Given the description of an element on the screen output the (x, y) to click on. 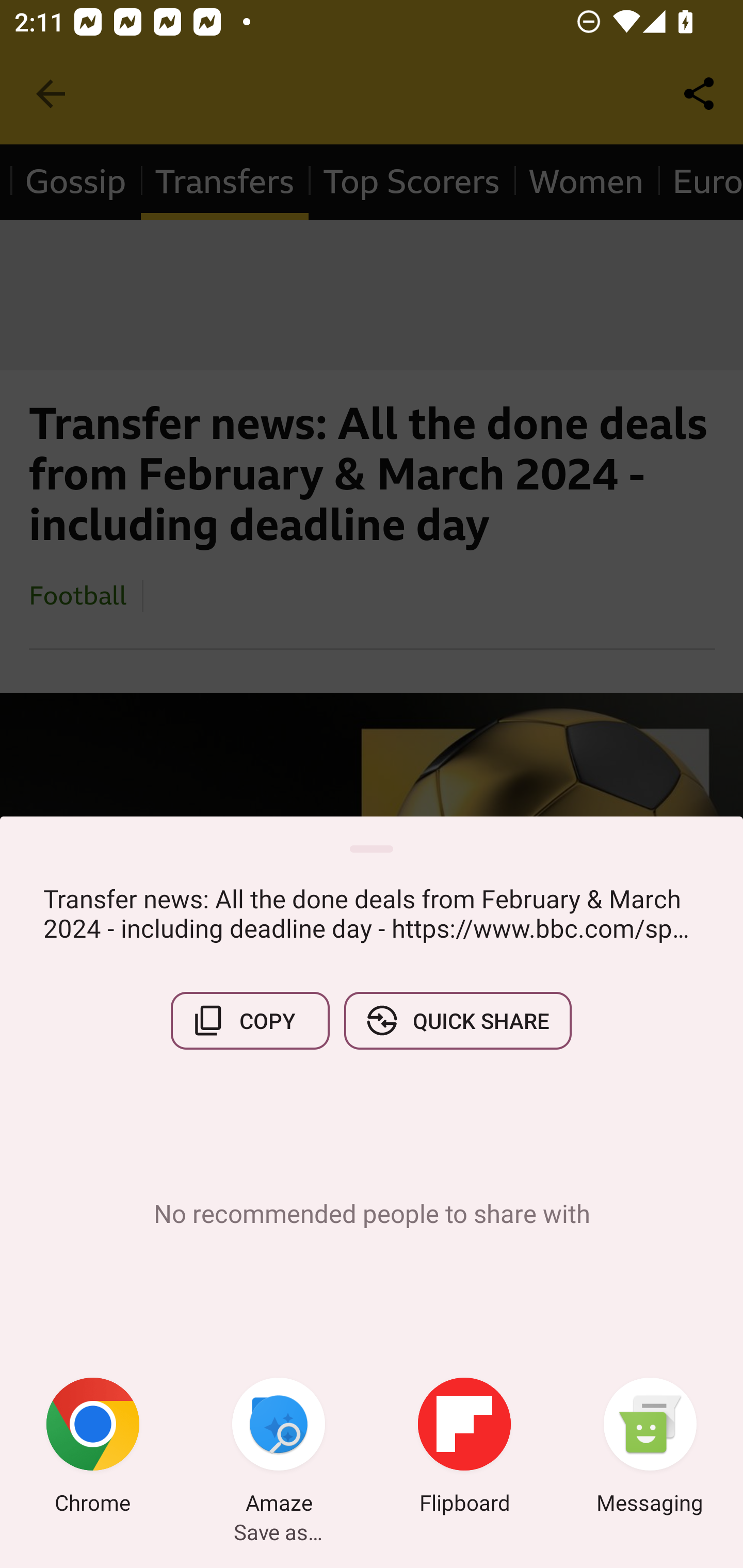
COPY (249, 1020)
QUICK SHARE (457, 1020)
Chrome (92, 1448)
Amaze Save as… (278, 1448)
Flipboard (464, 1448)
Messaging (650, 1448)
